Given the description of an element on the screen output the (x, y) to click on. 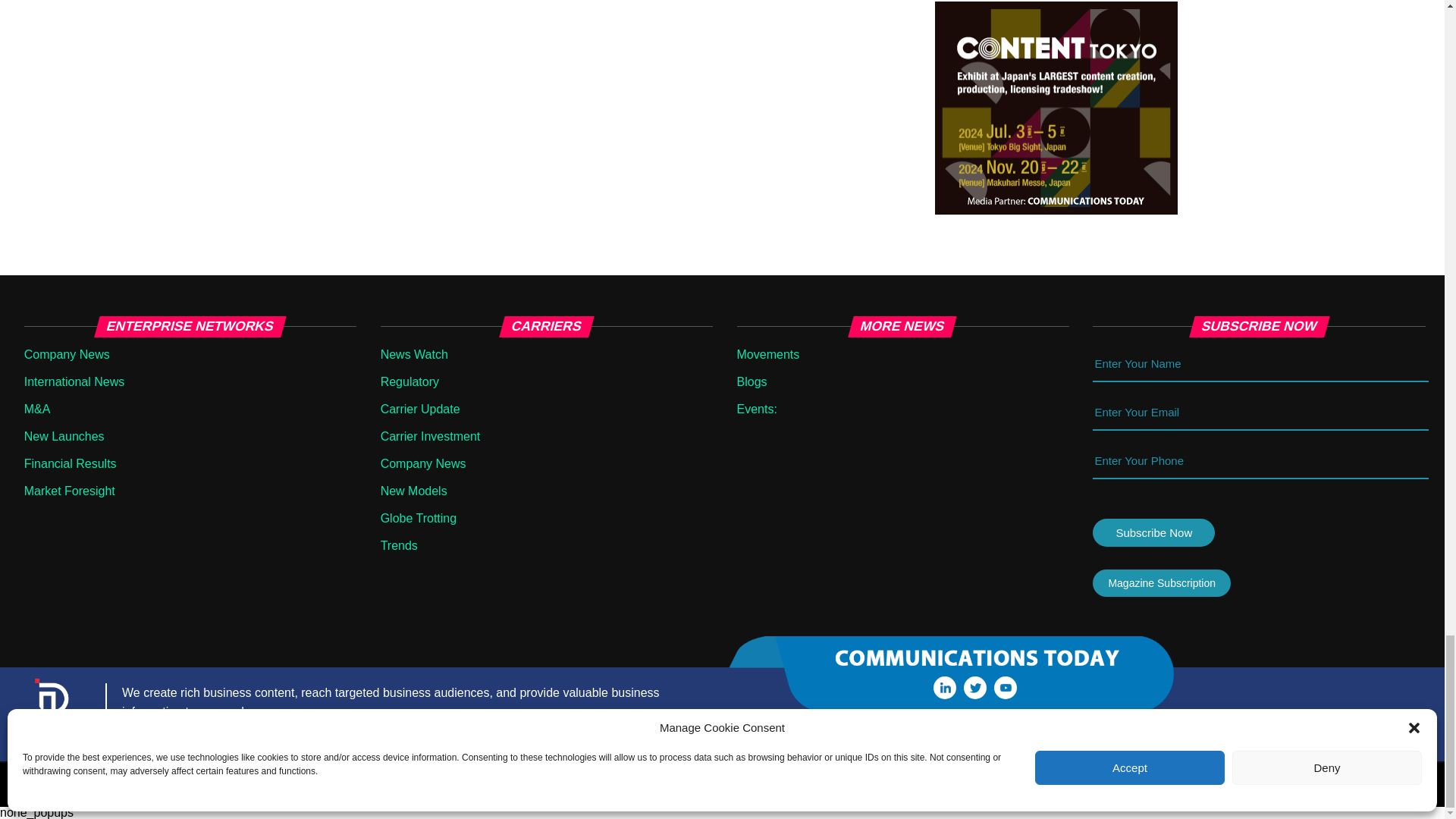
Subscribe Now (1153, 532)
